Given the description of an element on the screen output the (x, y) to click on. 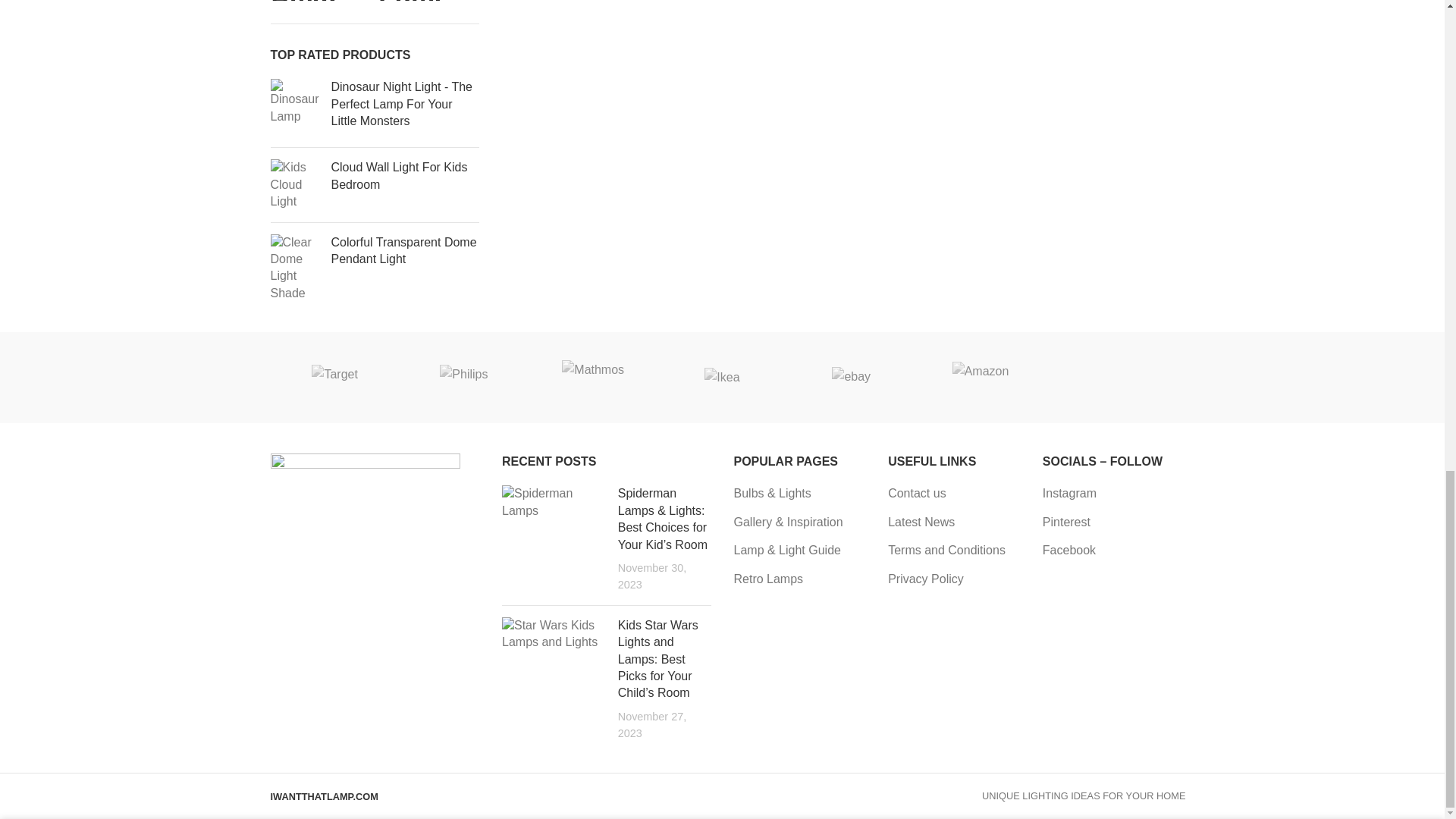
target (333, 377)
Ikea (722, 377)
Cloud Wall Light For Kids Bedroom (404, 175)
Colorful Transparent Dome Pendant Light (404, 251)
Light In The Box (1367, 377)
Lumens (1238, 377)
Cloud Wall Light For Kids Bedroom (293, 183)
ebay (851, 377)
Alessi (1109, 377)
